Given the description of an element on the screen output the (x, y) to click on. 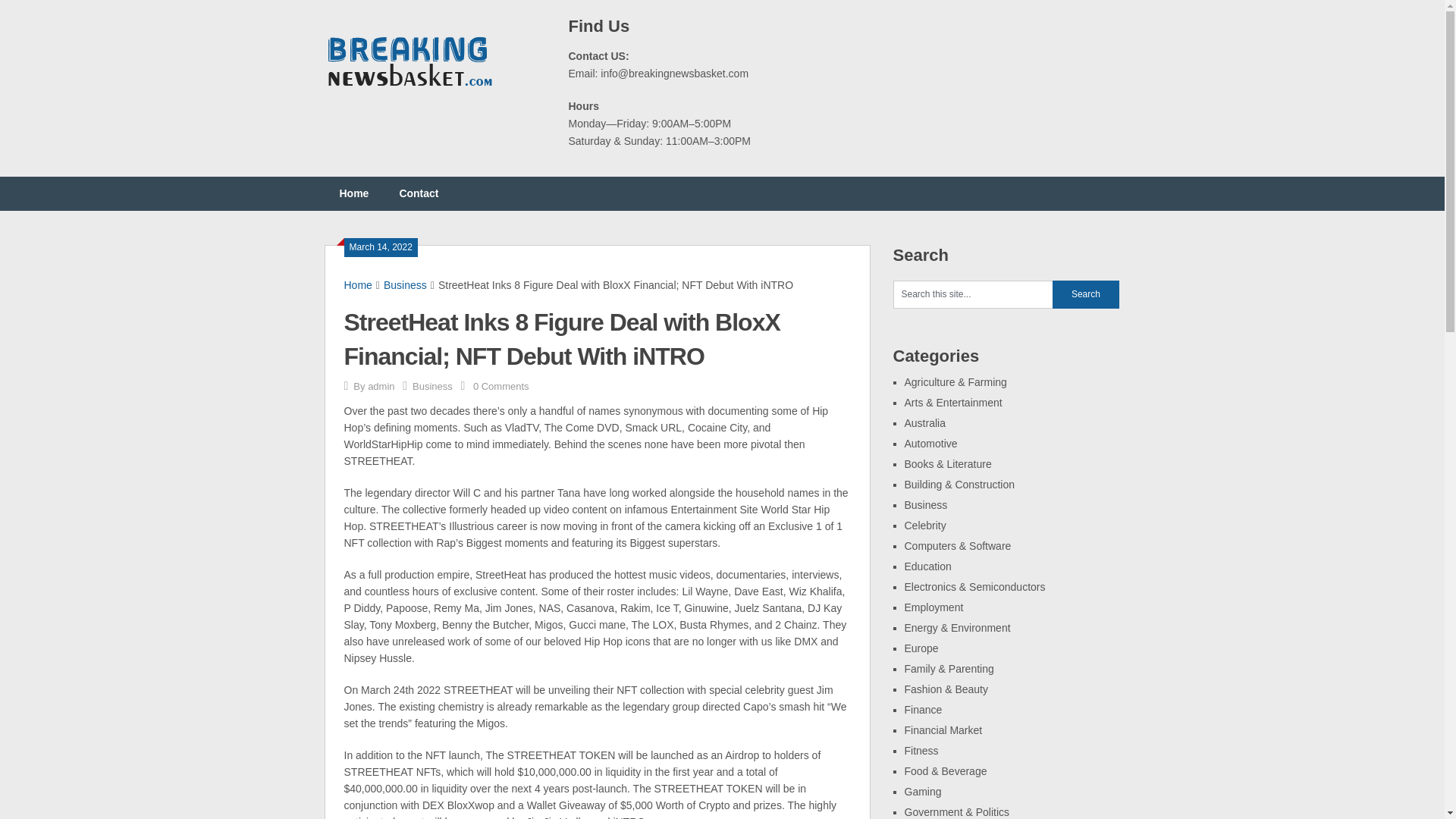
Search (1085, 294)
Automotive (930, 443)
Finance (923, 709)
Contact (418, 193)
0 Comments (501, 386)
Europe (920, 648)
admin (381, 386)
Business (925, 504)
Home (357, 285)
Gaming (922, 791)
Education (927, 566)
Posts by admin (381, 386)
Fitness (920, 750)
Search this site... (972, 294)
